Given the description of an element on the screen output the (x, y) to click on. 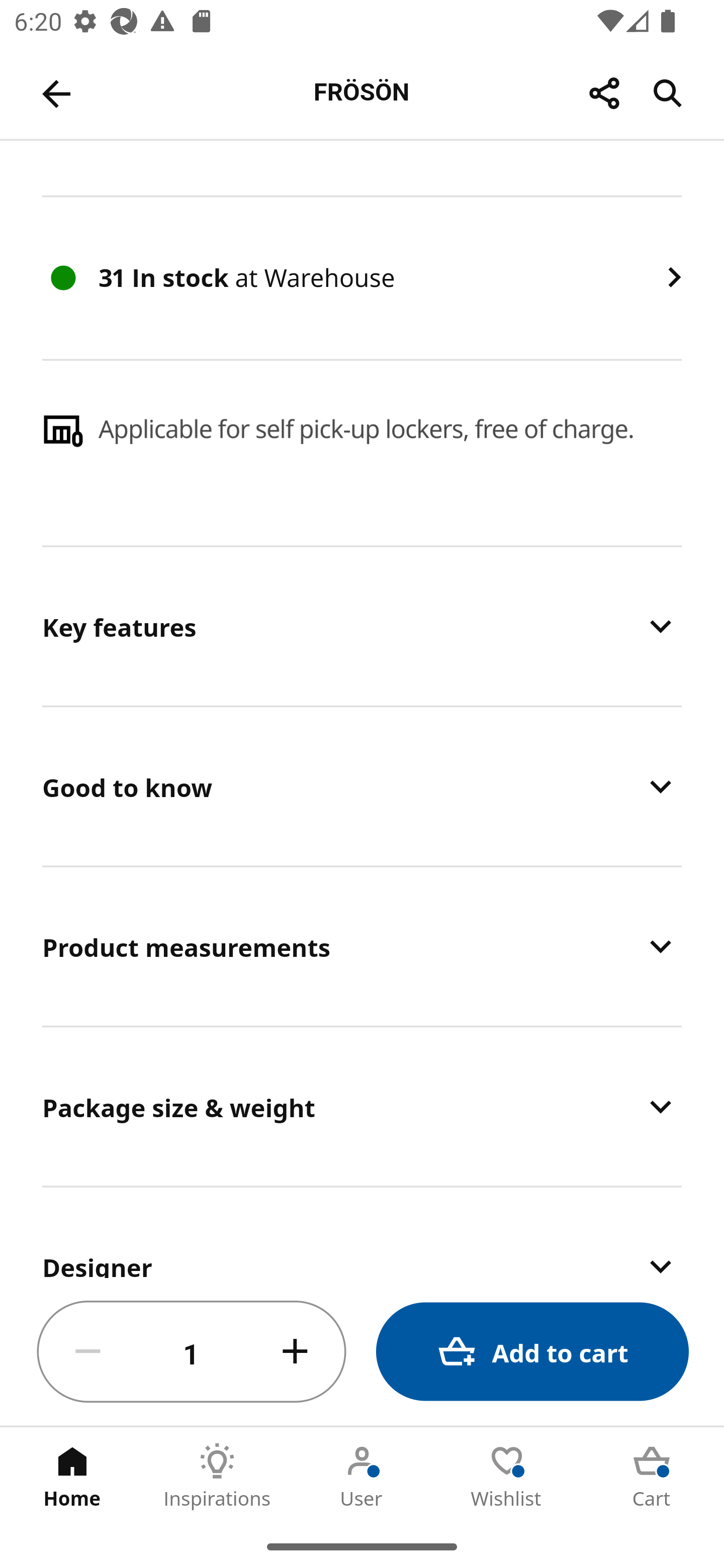
31 In stock at Warehouse (361, 278)
Key features (361, 626)
Good to know (361, 785)
Product measurements (361, 945)
Package size & weight (361, 1105)
Designer (361, 1232)
Add to cart (531, 1352)
1 (191, 1352)
Home
Tab 1 of 5 (72, 1476)
Inspirations
Tab 2 of 5 (216, 1476)
User
Tab 3 of 5 (361, 1476)
Wishlist
Tab 4 of 5 (506, 1476)
Cart
Tab 5 of 5 (651, 1476)
